Given the description of an element on the screen output the (x, y) to click on. 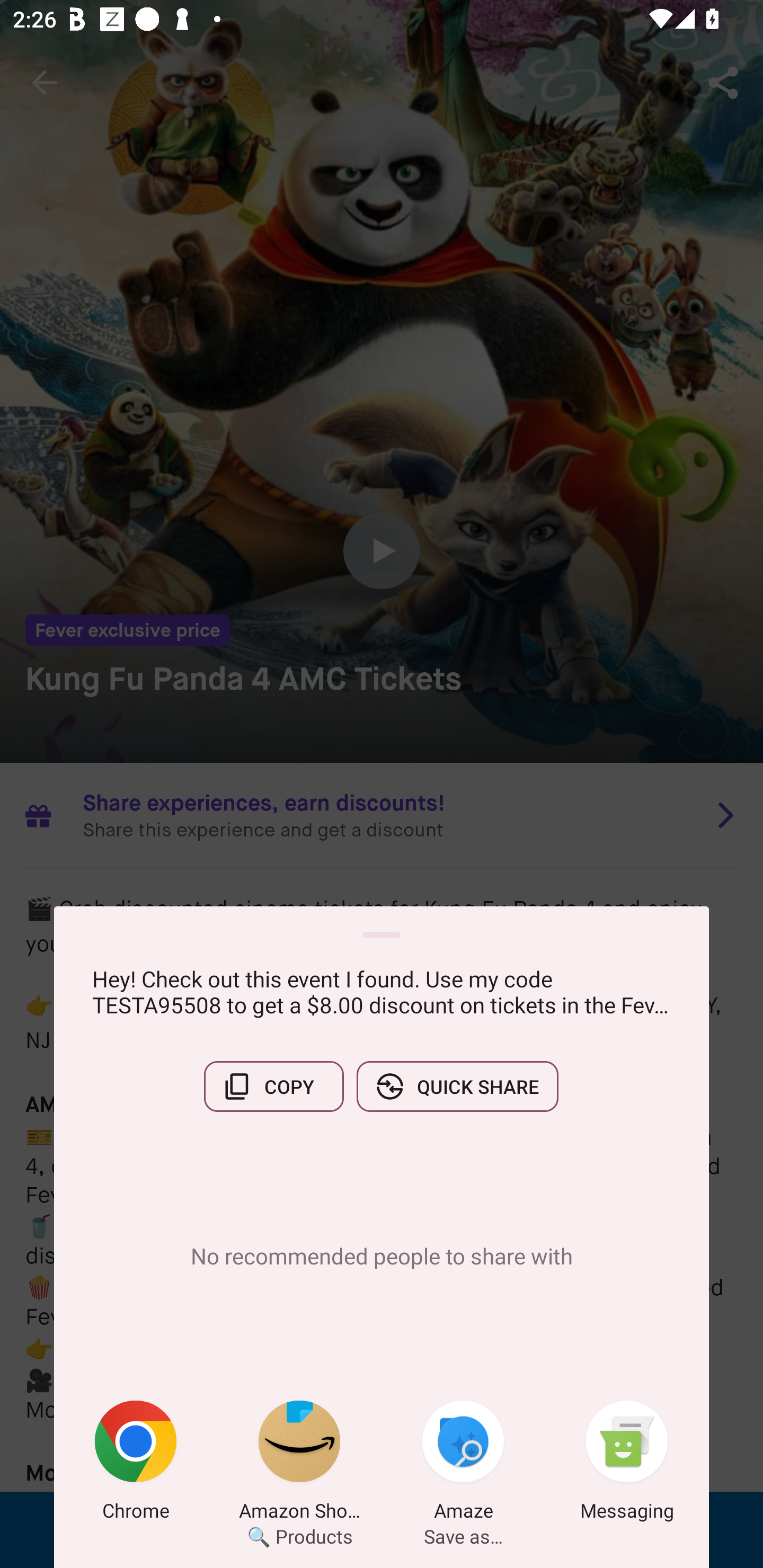
COPY (273, 1086)
QUICK SHARE (457, 1086)
Chrome (135, 1463)
Amazon Shopping 🔍 Products (299, 1463)
Amaze Save as… (463, 1463)
Messaging (626, 1463)
